Given the description of an element on the screen output the (x, y) to click on. 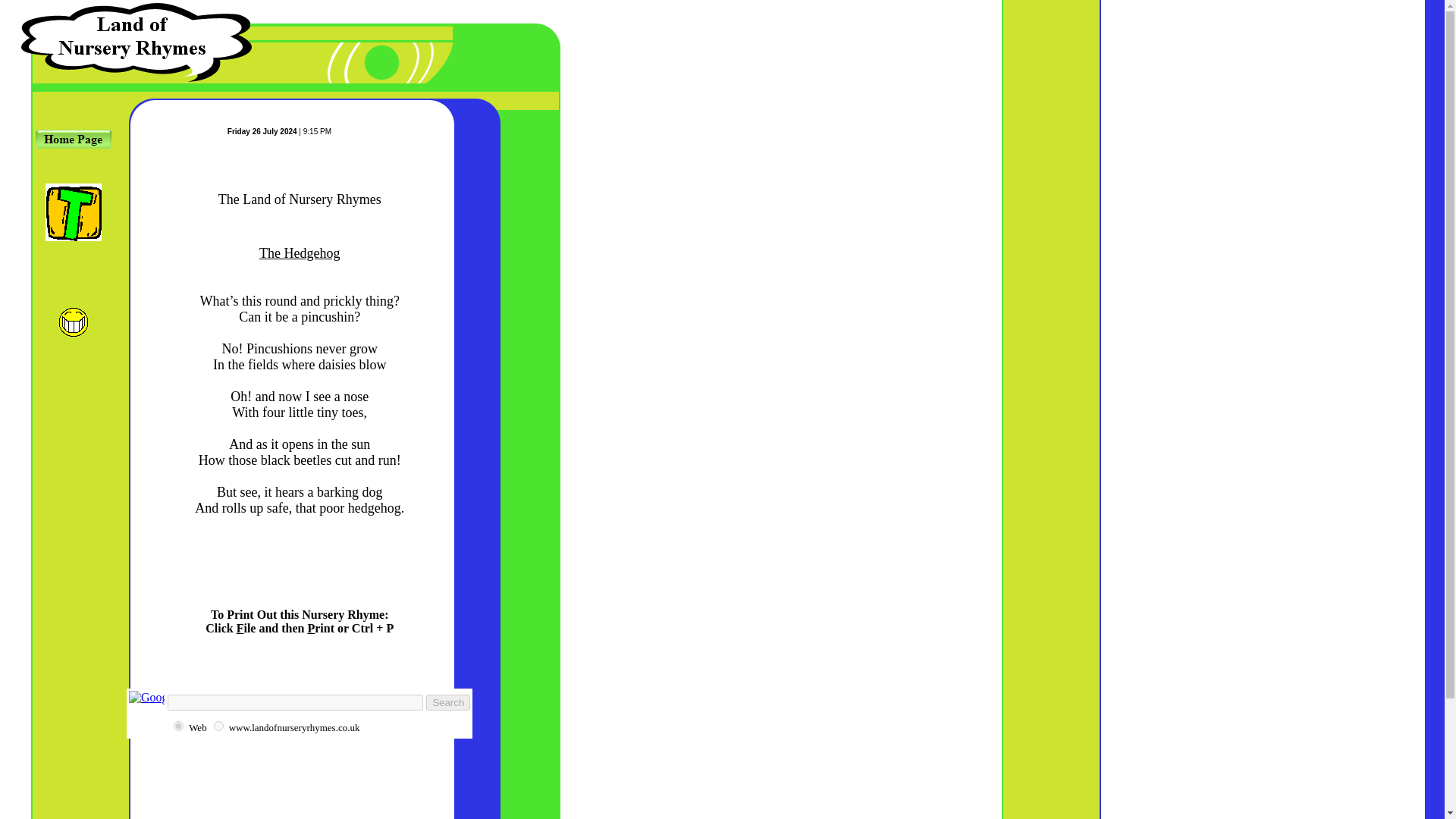
Search (448, 702)
Search (448, 702)
www.landofnurseryrhymes.co.uk (219, 726)
